Given the description of an element on the screen output the (x, y) to click on. 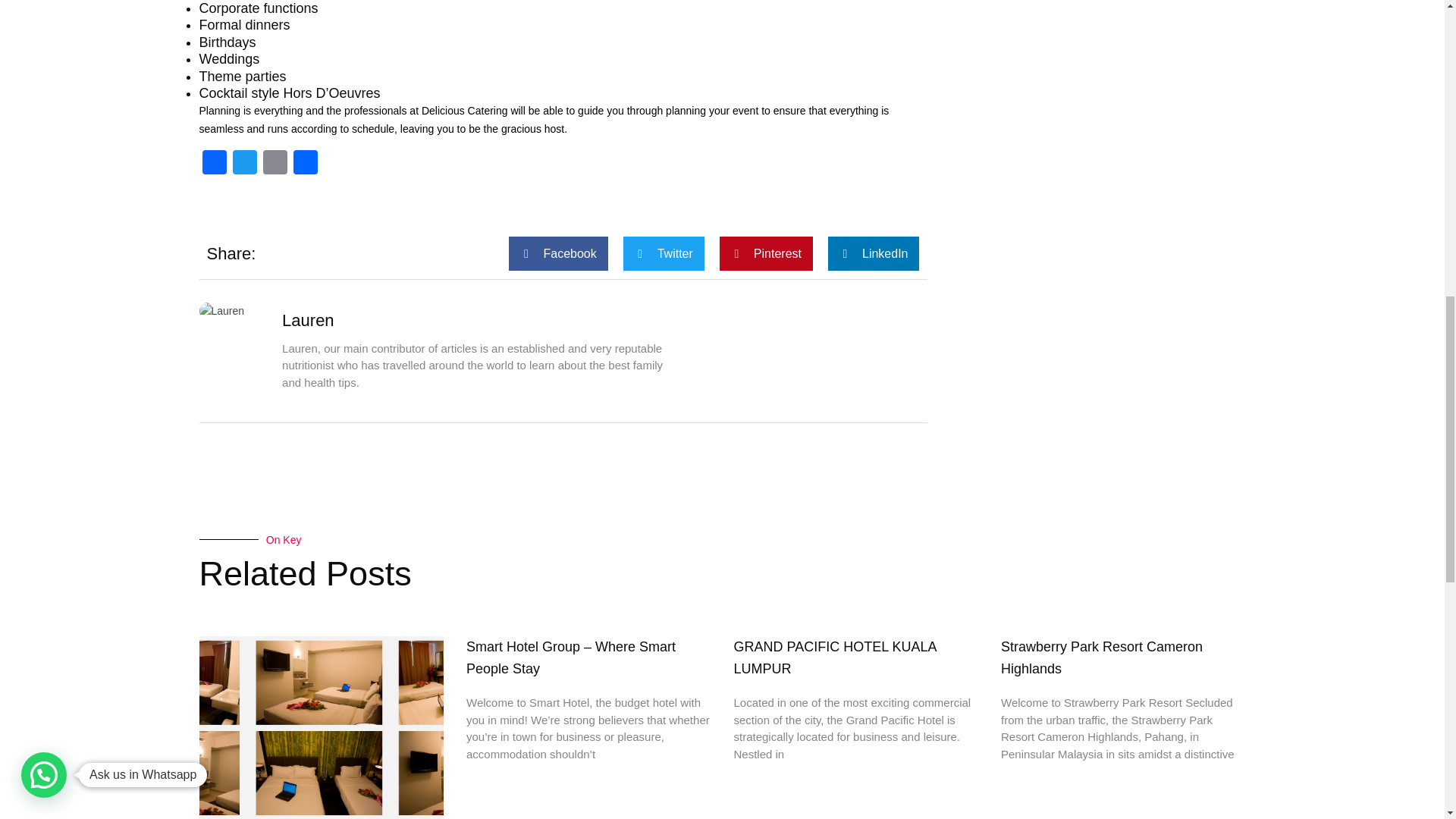
Email (274, 163)
Facebook (213, 163)
Twitter (243, 163)
Strawberry Park Resort Cameron Highlands (1101, 657)
Facebook (213, 163)
Email (274, 163)
GRAND PACIFIC HOTEL KUALA LUMPUR (834, 657)
Twitter (243, 163)
Share (304, 163)
